Given the description of an element on the screen output the (x, y) to click on. 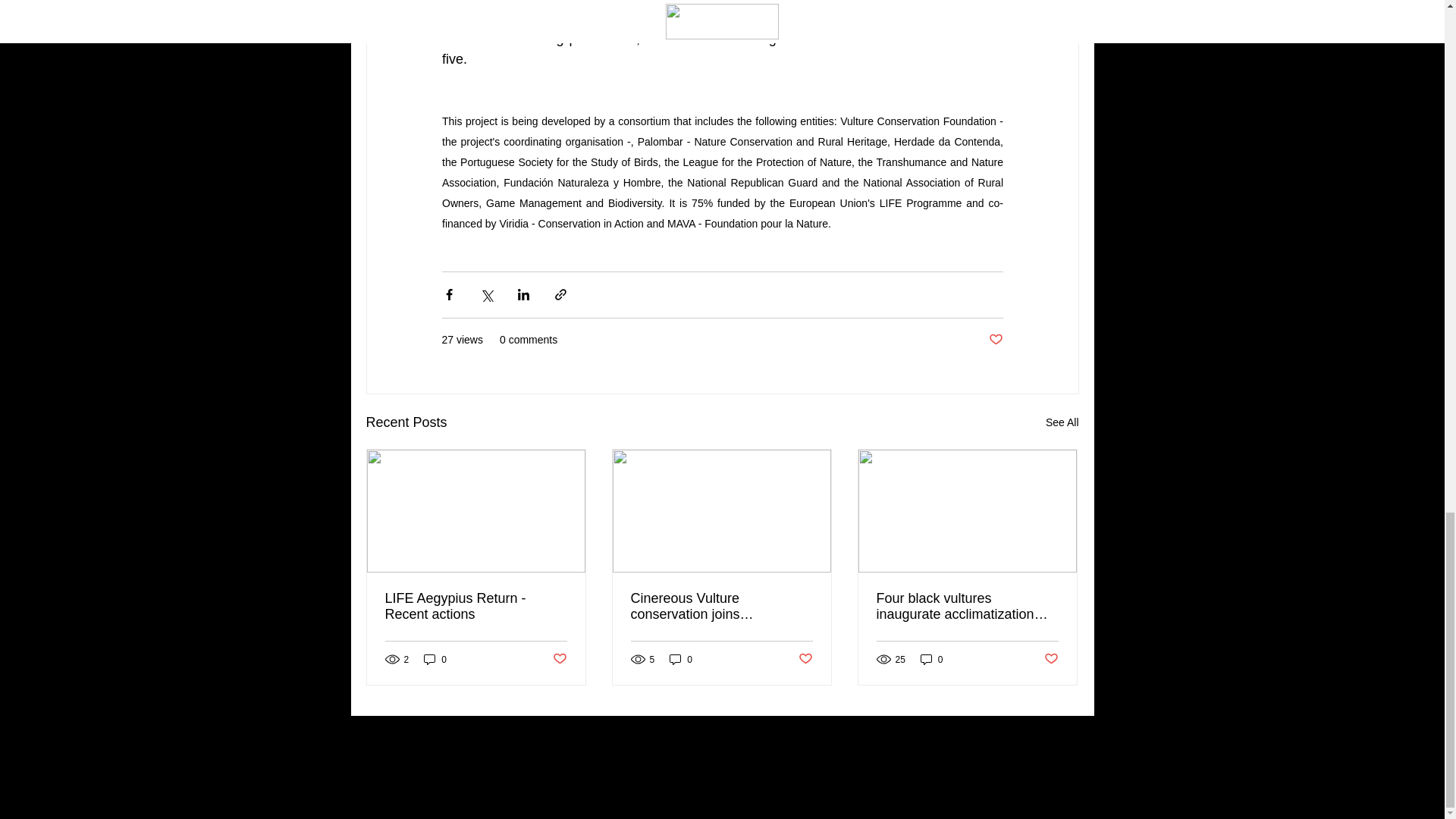
LIFE Aegypius Return - Recent actions (476, 606)
Post not marked as liked (804, 659)
See All (1061, 422)
Post not marked as liked (558, 659)
0 (681, 658)
0 (931, 658)
0 (435, 658)
Post not marked as liked (1050, 659)
